Given the description of an element on the screen output the (x, y) to click on. 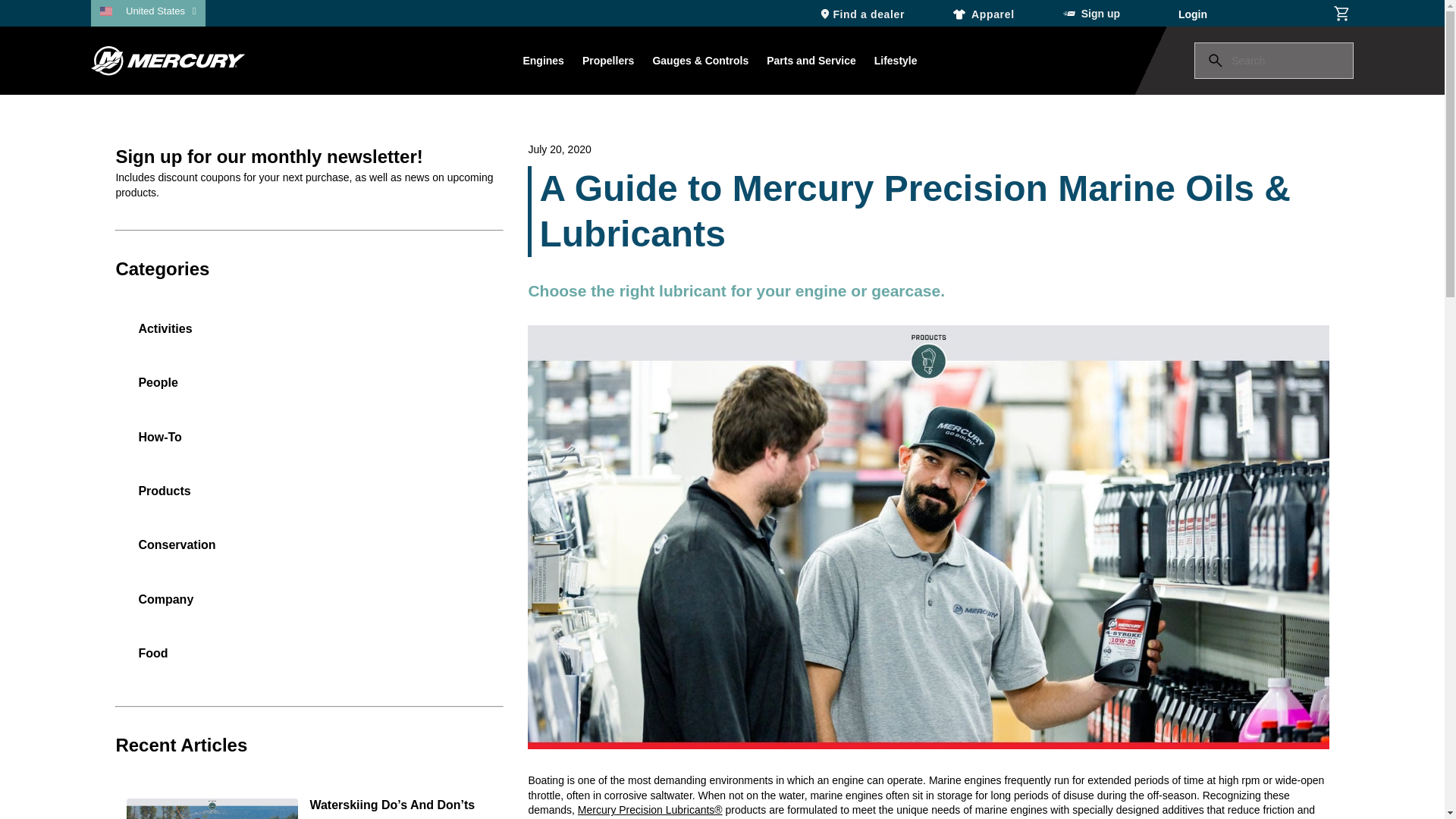
United States (160, 10)
How-To (159, 445)
Conservation (176, 553)
Apparel (983, 13)
People (157, 390)
Company (165, 607)
Activities (164, 337)
Food (152, 661)
Find a dealer (861, 13)
Products (163, 499)
United States (160, 10)
